Given the description of an element on the screen output the (x, y) to click on. 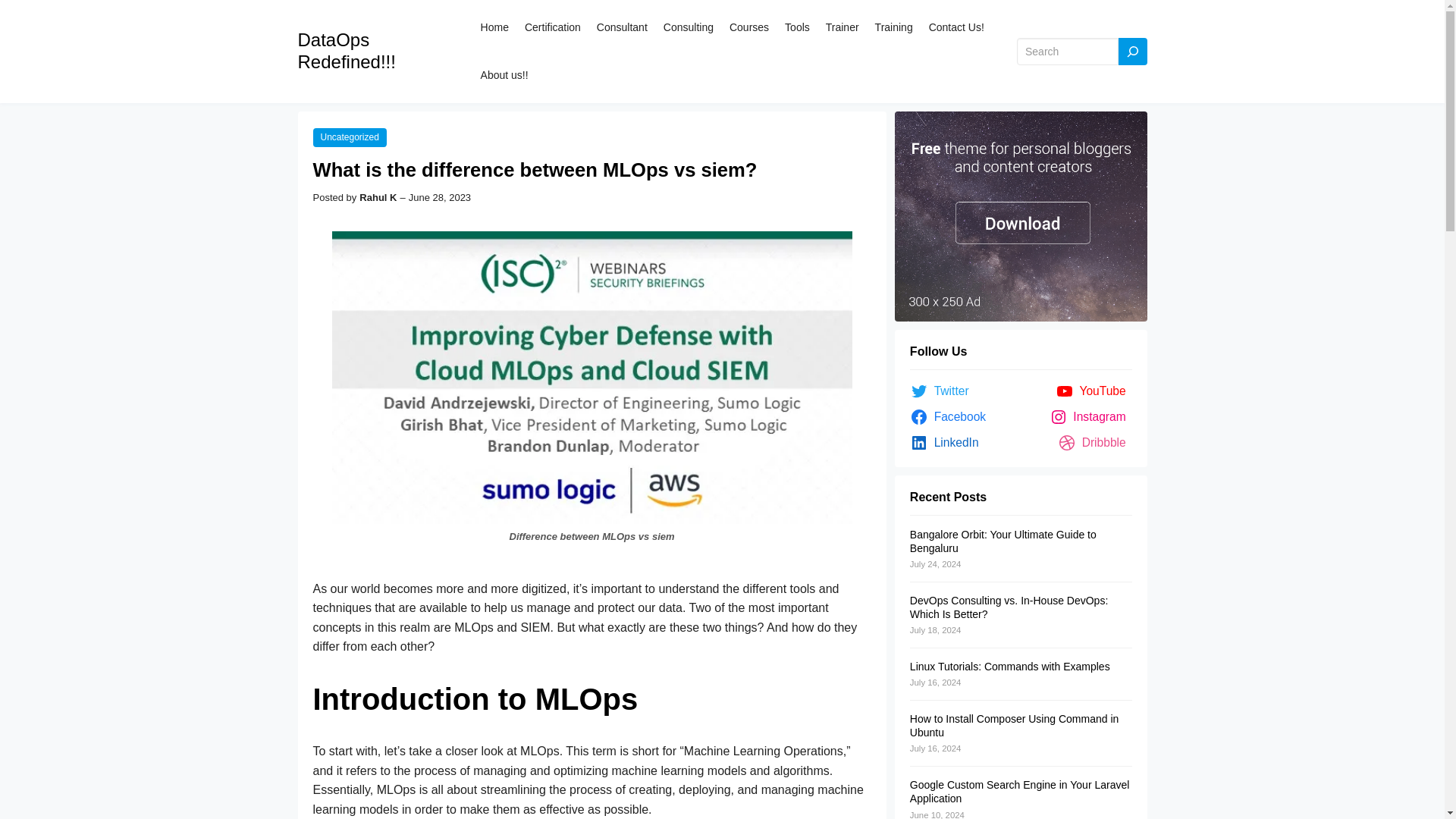
Trainer (842, 27)
Uncategorized (349, 137)
DataOps Redefined!!! (345, 50)
Courses (748, 27)
Training (893, 27)
Contact Us! (956, 27)
Certification (552, 27)
Consulting (688, 27)
About us!! (504, 74)
Consultant (621, 27)
